Given the description of an element on the screen output the (x, y) to click on. 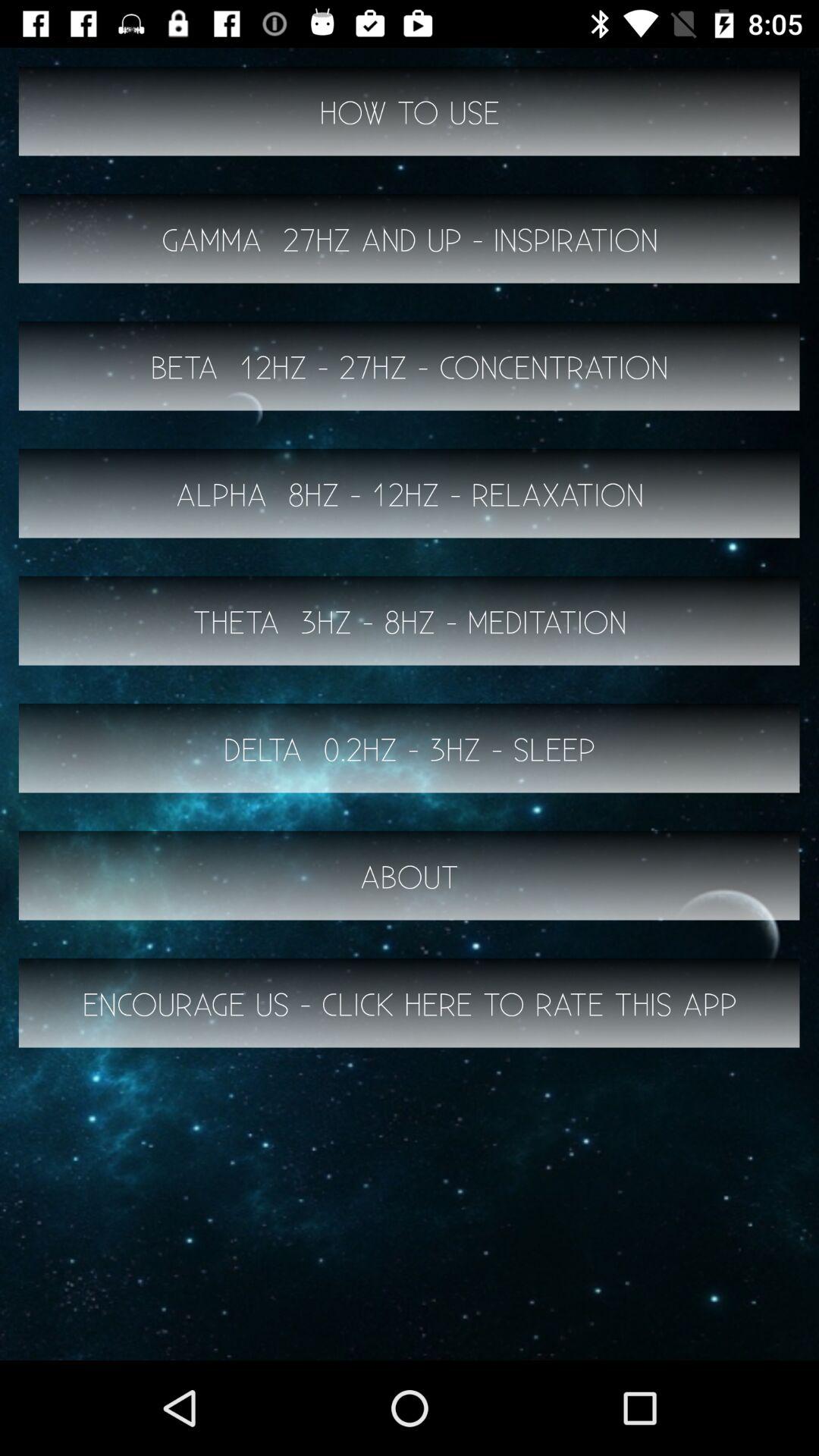
swipe to the encourage us click item (409, 1003)
